Given the description of an element on the screen output the (x, y) to click on. 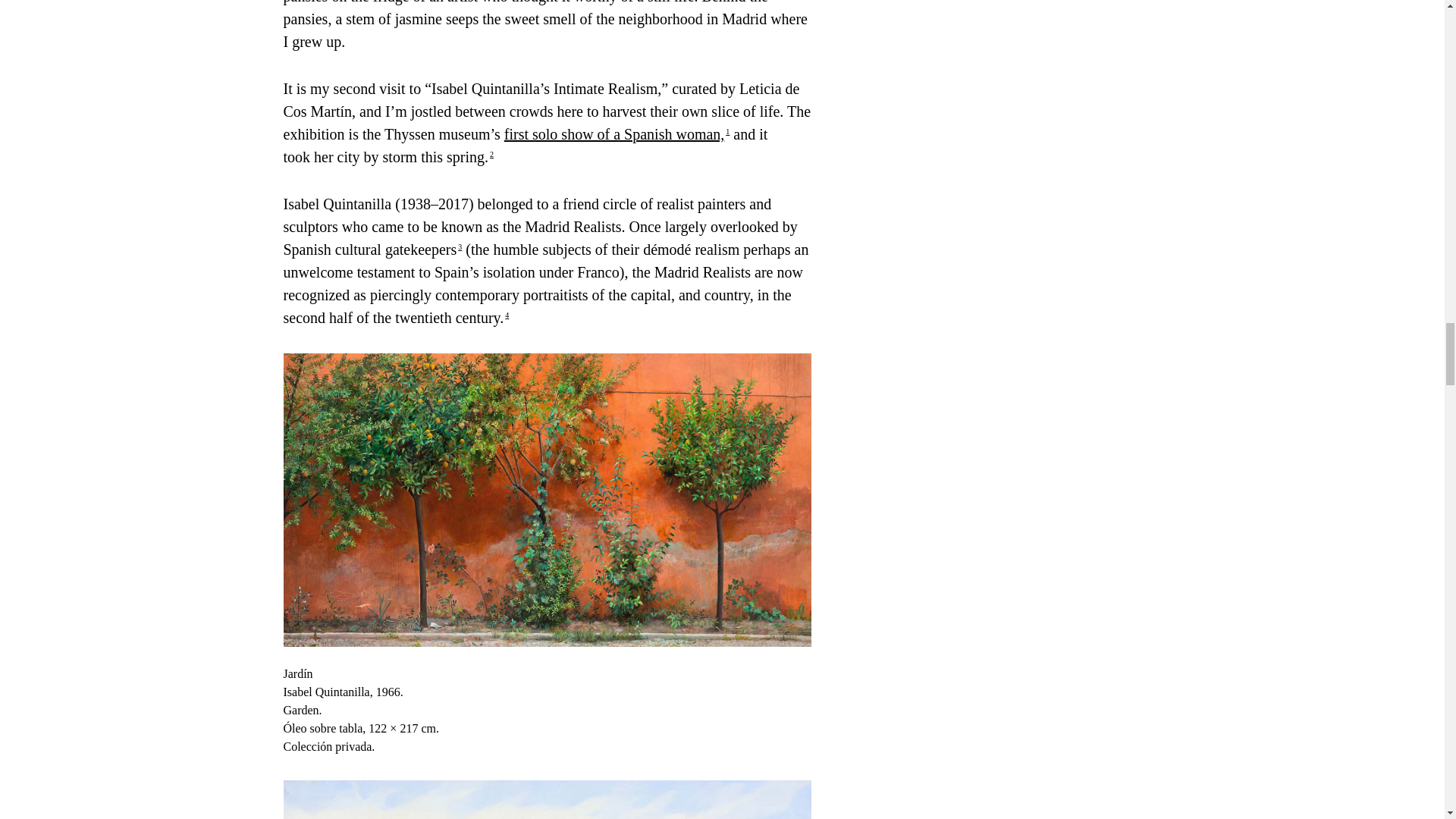
first solo show of a Spanish woman, (614, 134)
